Given the description of an element on the screen output the (x, y) to click on. 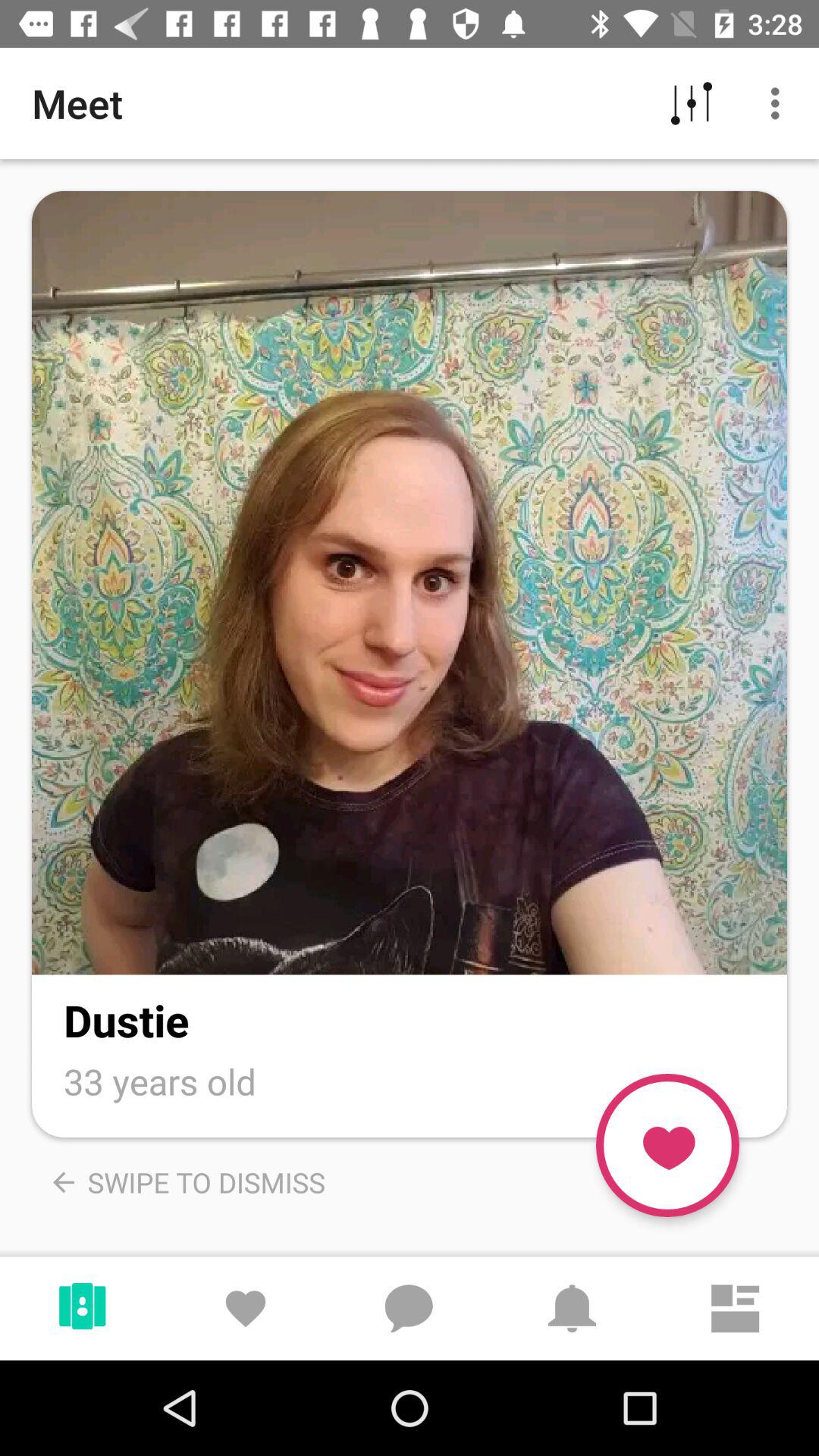
select item to the right of meet icon (691, 103)
